Given the description of an element on the screen output the (x, y) to click on. 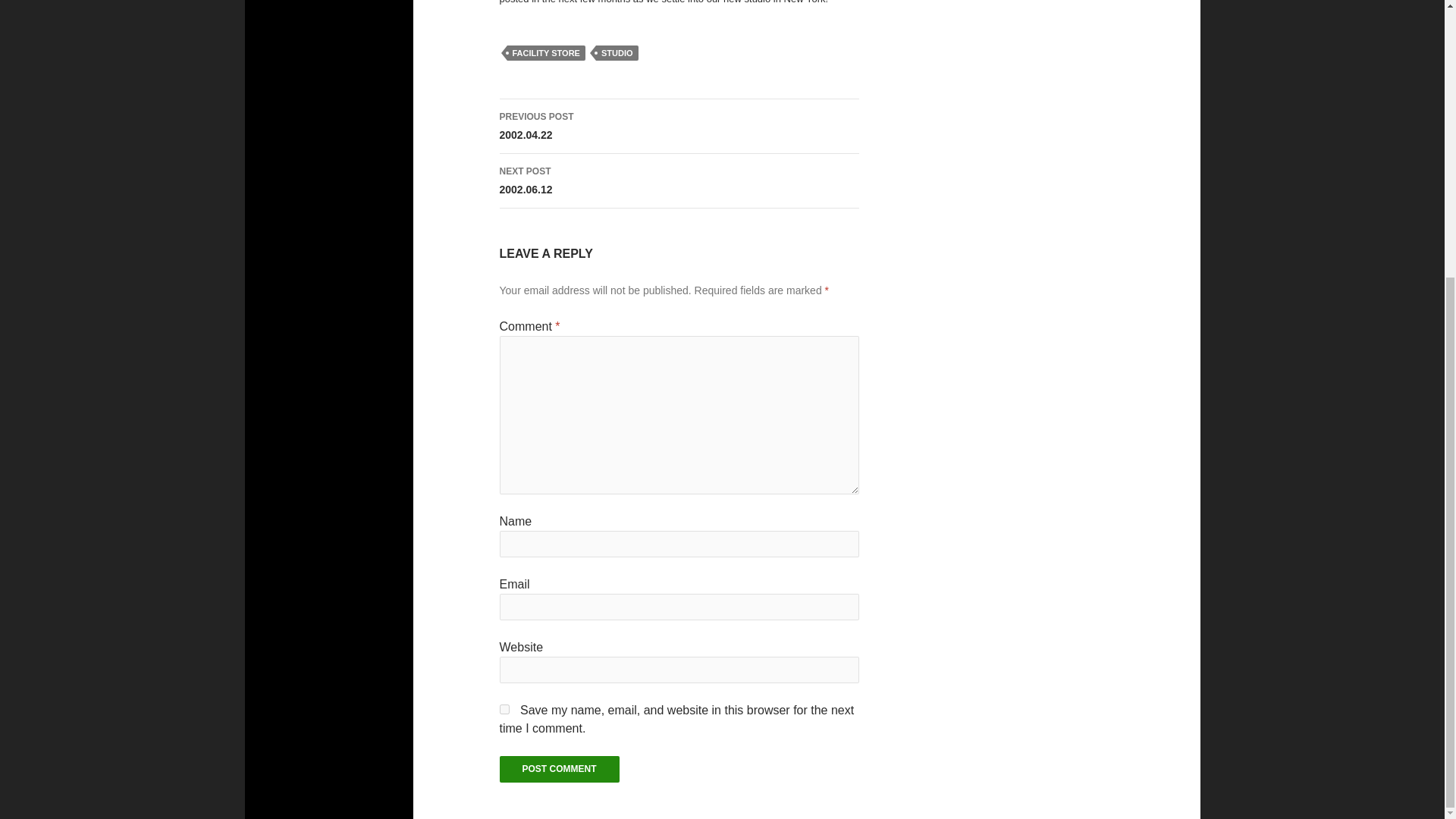
yes (504, 709)
Post Comment (559, 768)
Post Comment (559, 768)
STUDIO (679, 180)
FACILITY STORE (617, 52)
